Given the description of an element on the screen output the (x, y) to click on. 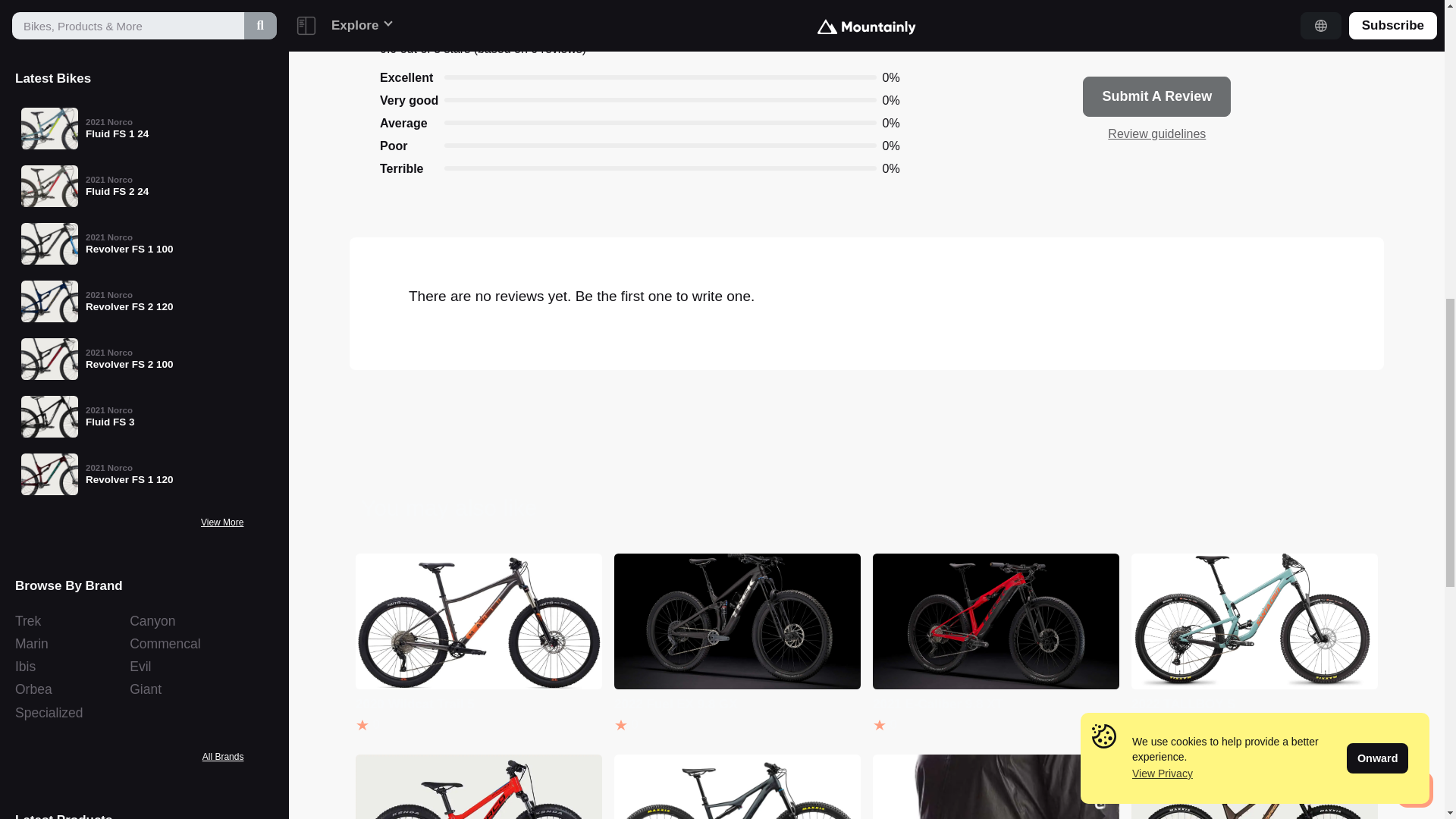
Dual Blaze 1500 (129, 223)
Bikes (129, 450)
Range Composite Pedal (129, 166)
Products (129, 489)
News (129, 528)
Home (129, 412)
View More (222, 337)
Range Composite Pedal (129, 166)
